Given the description of an element on the screen output the (x, y) to click on. 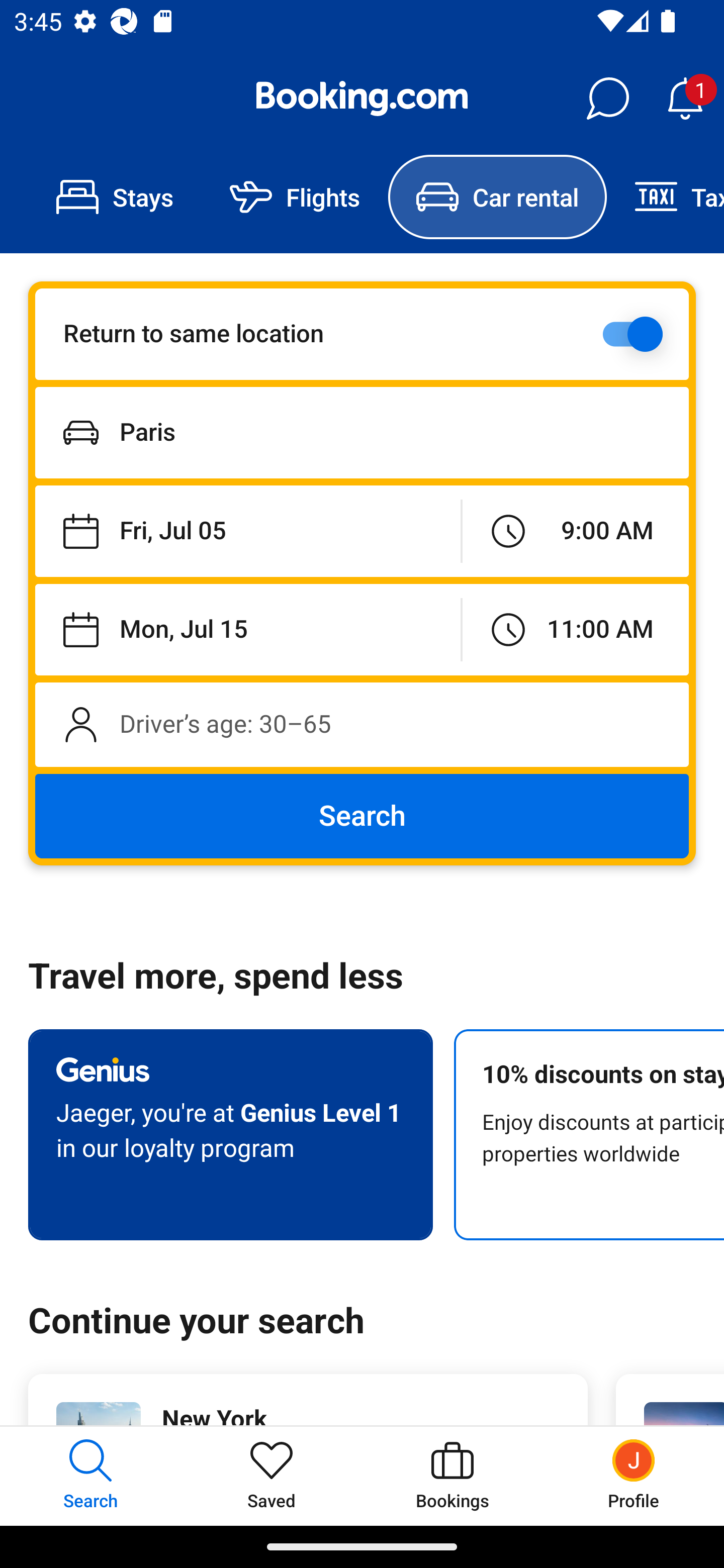
Messages (607, 98)
Notifications (685, 98)
Stays (114, 197)
Flights (294, 197)
Car rental (497, 197)
Taxi (665, 197)
Pick-up location: Text(name=Paris) (361, 432)
Pick-up date: 2024-07-05 (247, 531)
Pick-up time: 09:00:00.000 (575, 531)
Drop-off date: 2024-07-15 (247, 629)
Drop-off time: 11:00:00.000 (575, 629)
Enter the driver's age (361, 724)
Search (361, 815)
Saved (271, 1475)
Bookings (452, 1475)
Profile (633, 1475)
